Given the description of an element on the screen output the (x, y) to click on. 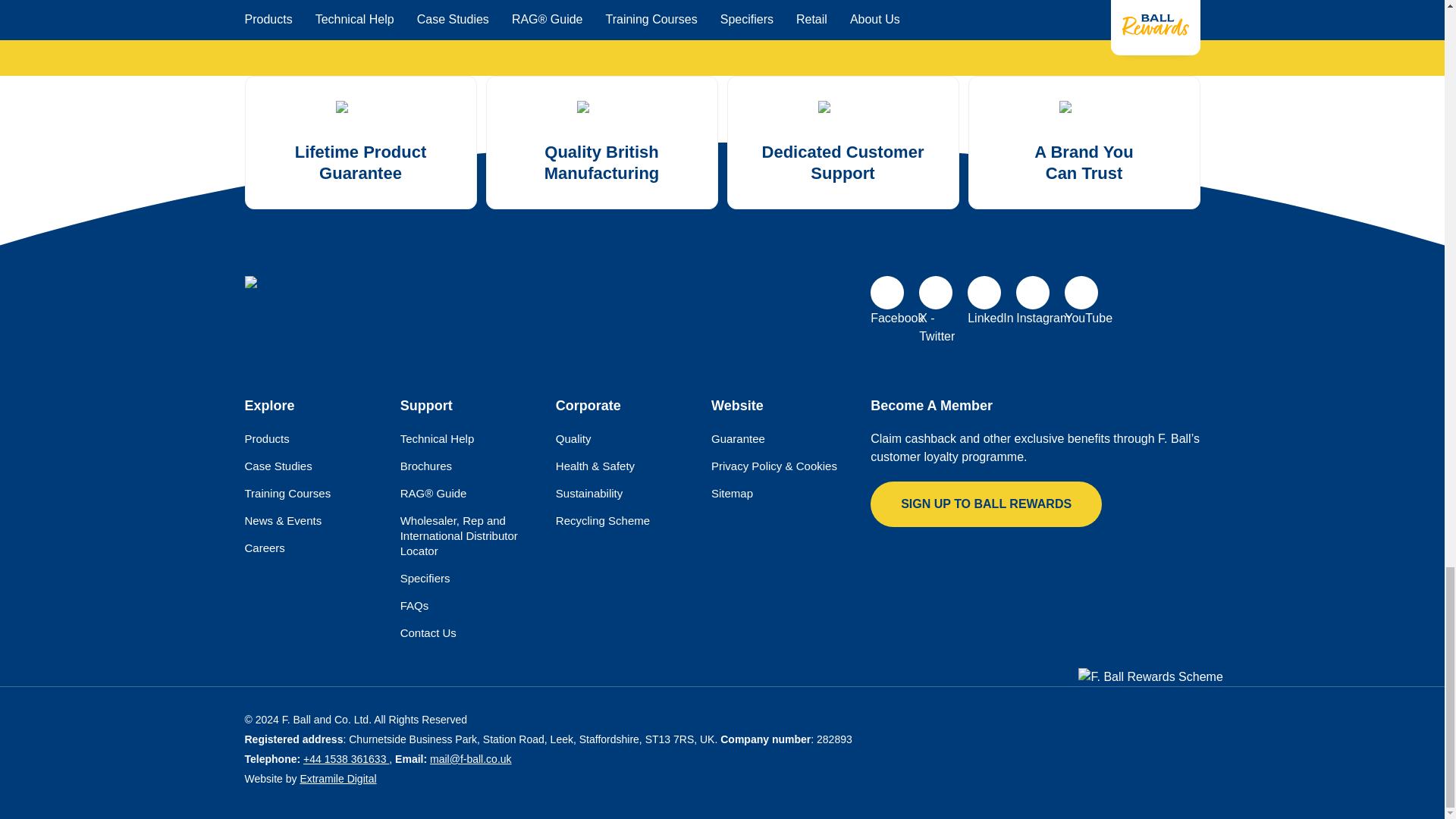
YouTube (1080, 292)
X - Twitter (935, 292)
Website by Extramile Digital (337, 778)
Instagram (1032, 292)
LinkedIn (984, 292)
Facebook (887, 292)
